Given the description of an element on the screen output the (x, y) to click on. 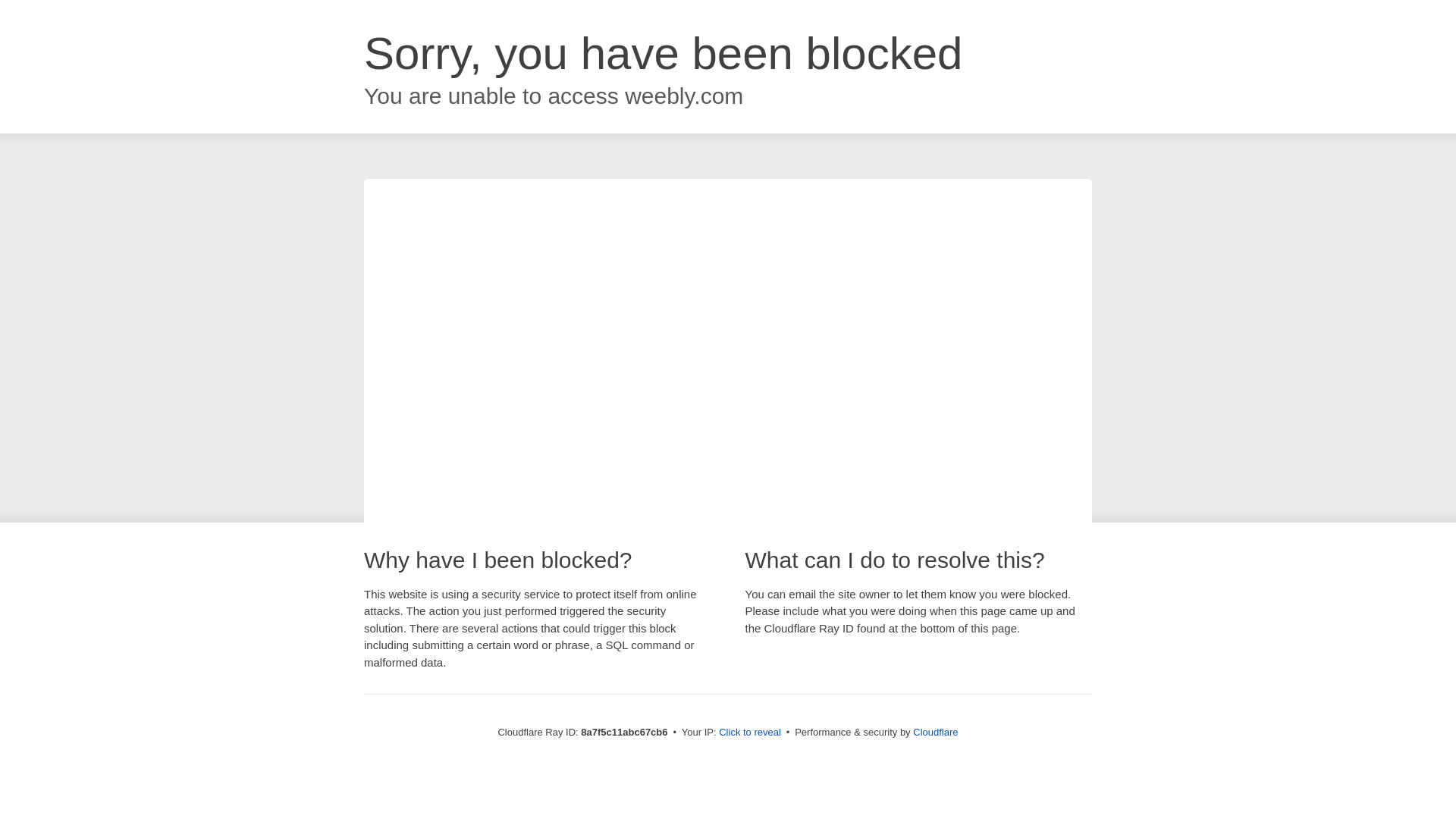
Cloudflare (935, 731)
Click to reveal (749, 732)
